Given the description of an element on the screen output the (x, y) to click on. 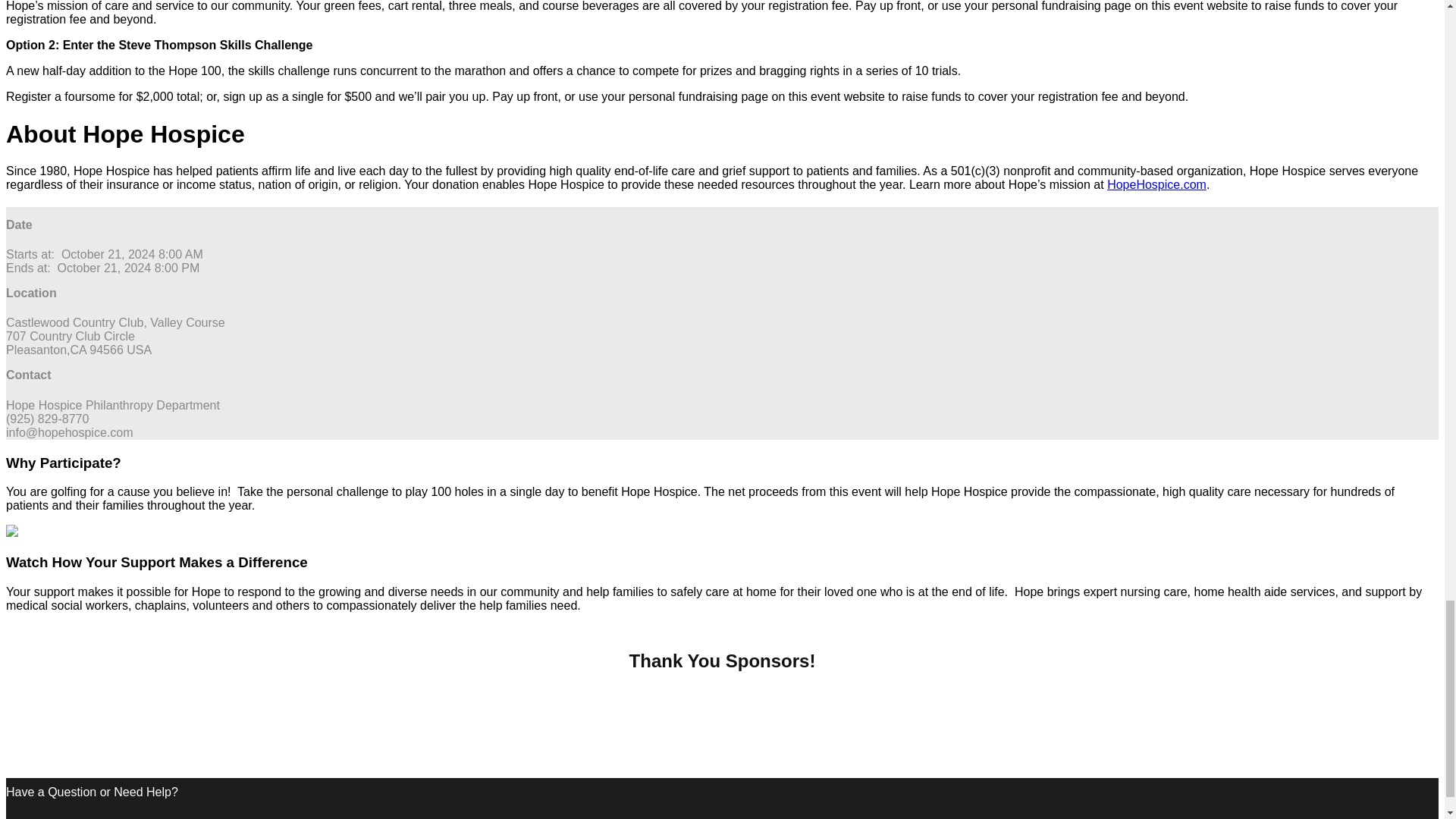
HopeHospice.com (1156, 184)
Have a Question or Need Help? (91, 791)
